Given the description of an element on the screen output the (x, y) to click on. 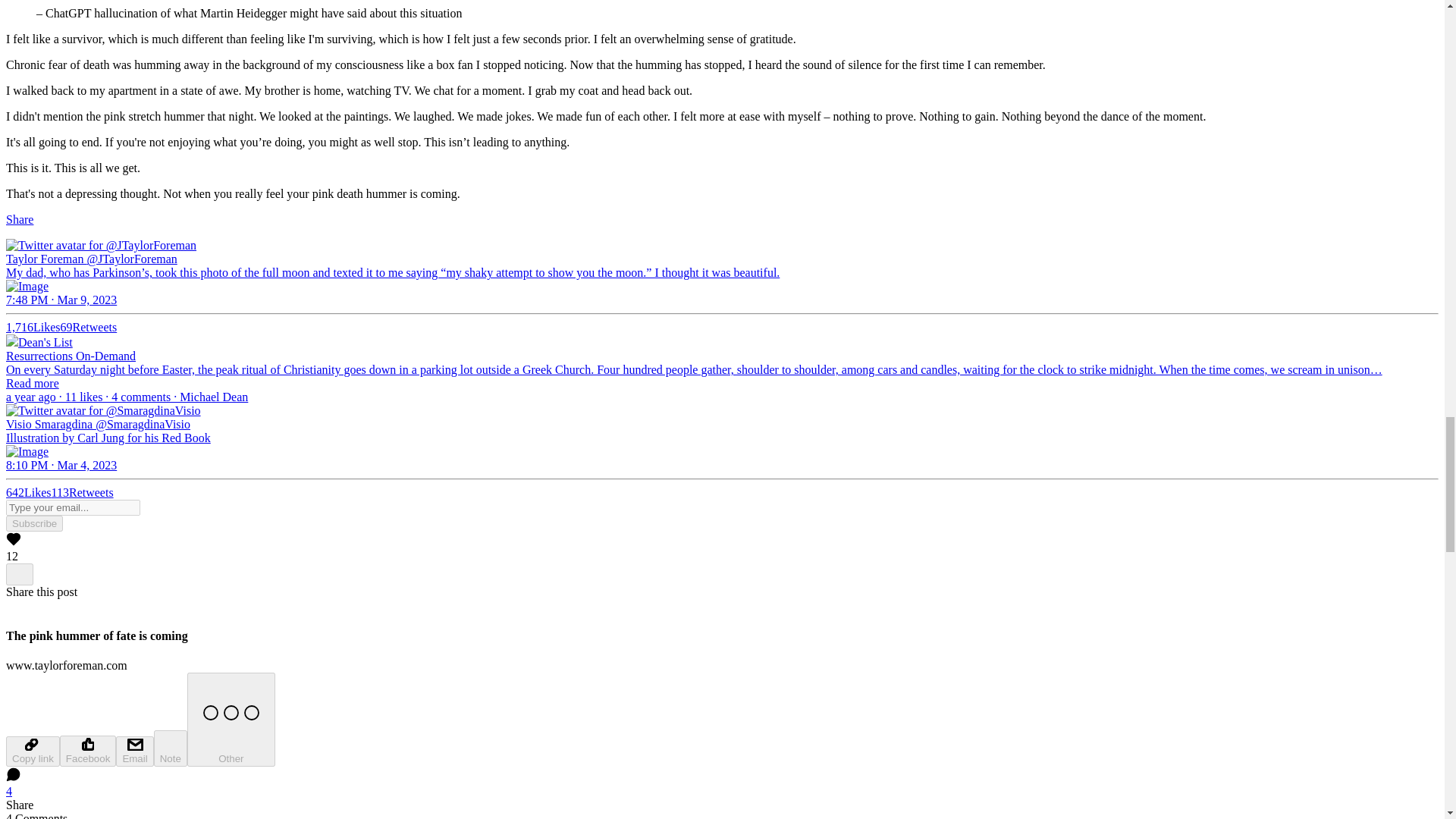
Subscribe (33, 523)
Email (134, 751)
Share (19, 219)
Other (231, 719)
Facebook (87, 750)
Note (170, 748)
Copy link (32, 751)
